Given the description of an element on the screen output the (x, y) to click on. 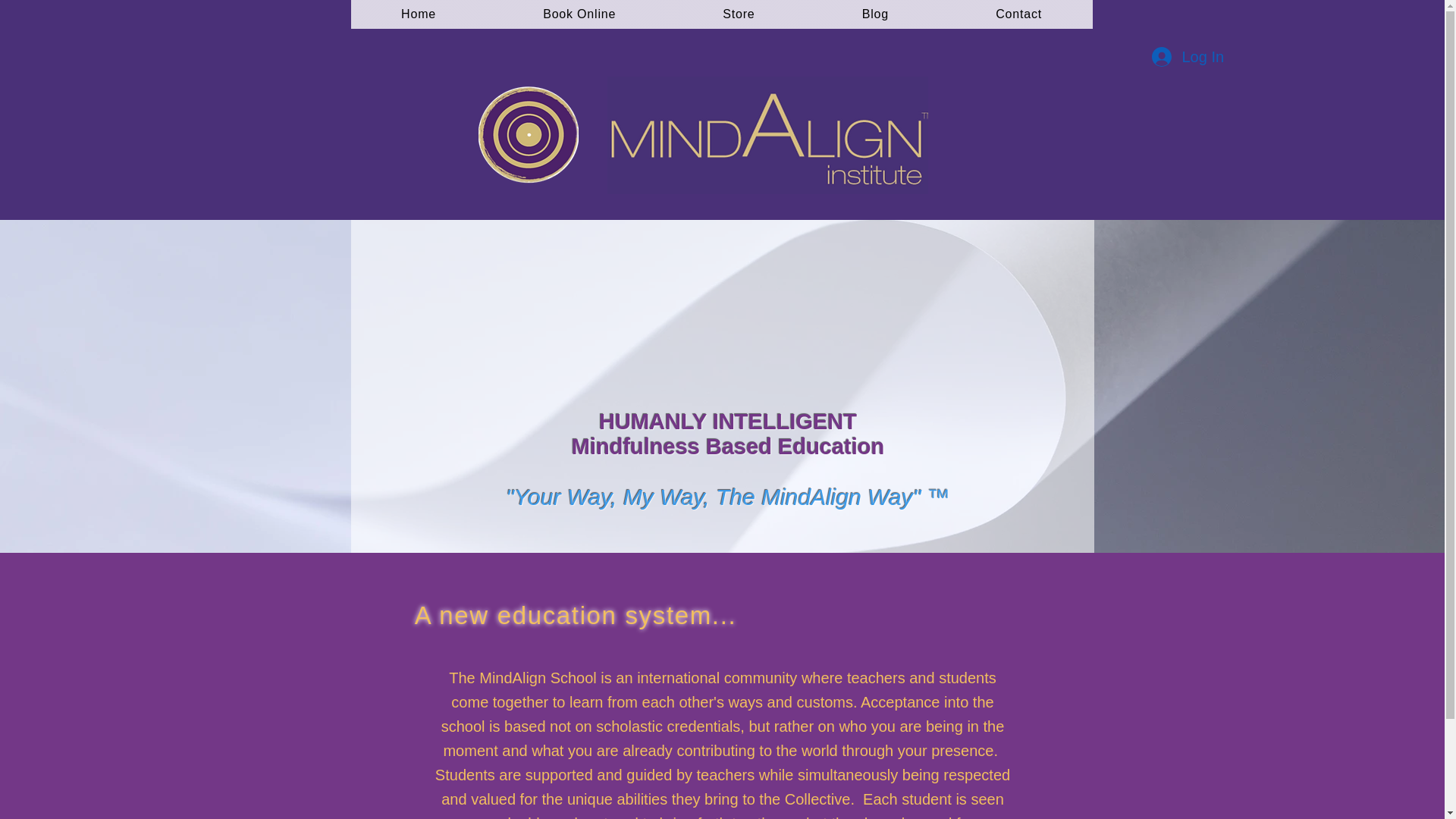
Log In (1185, 56)
Home (418, 14)
Store (738, 14)
Book Online (579, 14)
Blog (874, 14)
Contact (1018, 14)
